Given the description of an element on the screen output the (x, y) to click on. 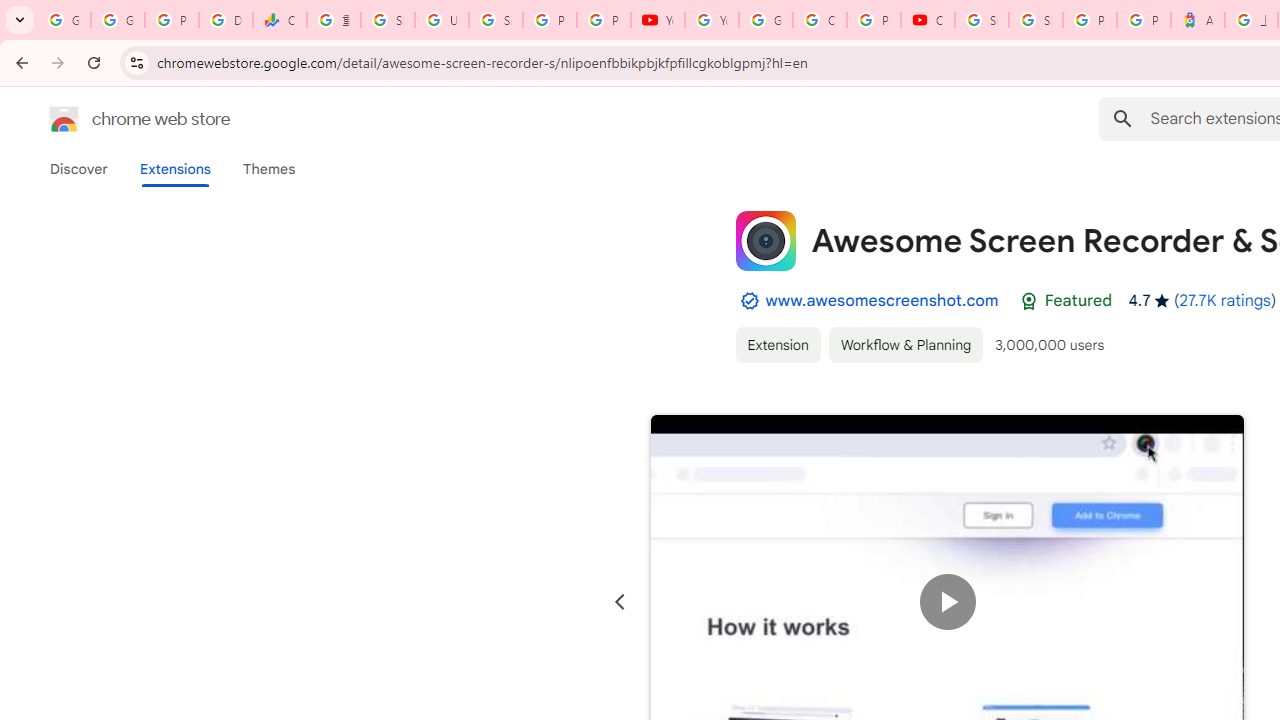
Sign in - Google Accounts (1035, 20)
Extension (777, 344)
Google Account Help (765, 20)
YouTube (711, 20)
Chrome Web Store logo chrome web store (118, 118)
Previous slide (619, 601)
Sign in - Google Accounts (981, 20)
Item media 1 video (947, 601)
